Given the description of an element on the screen output the (x, y) to click on. 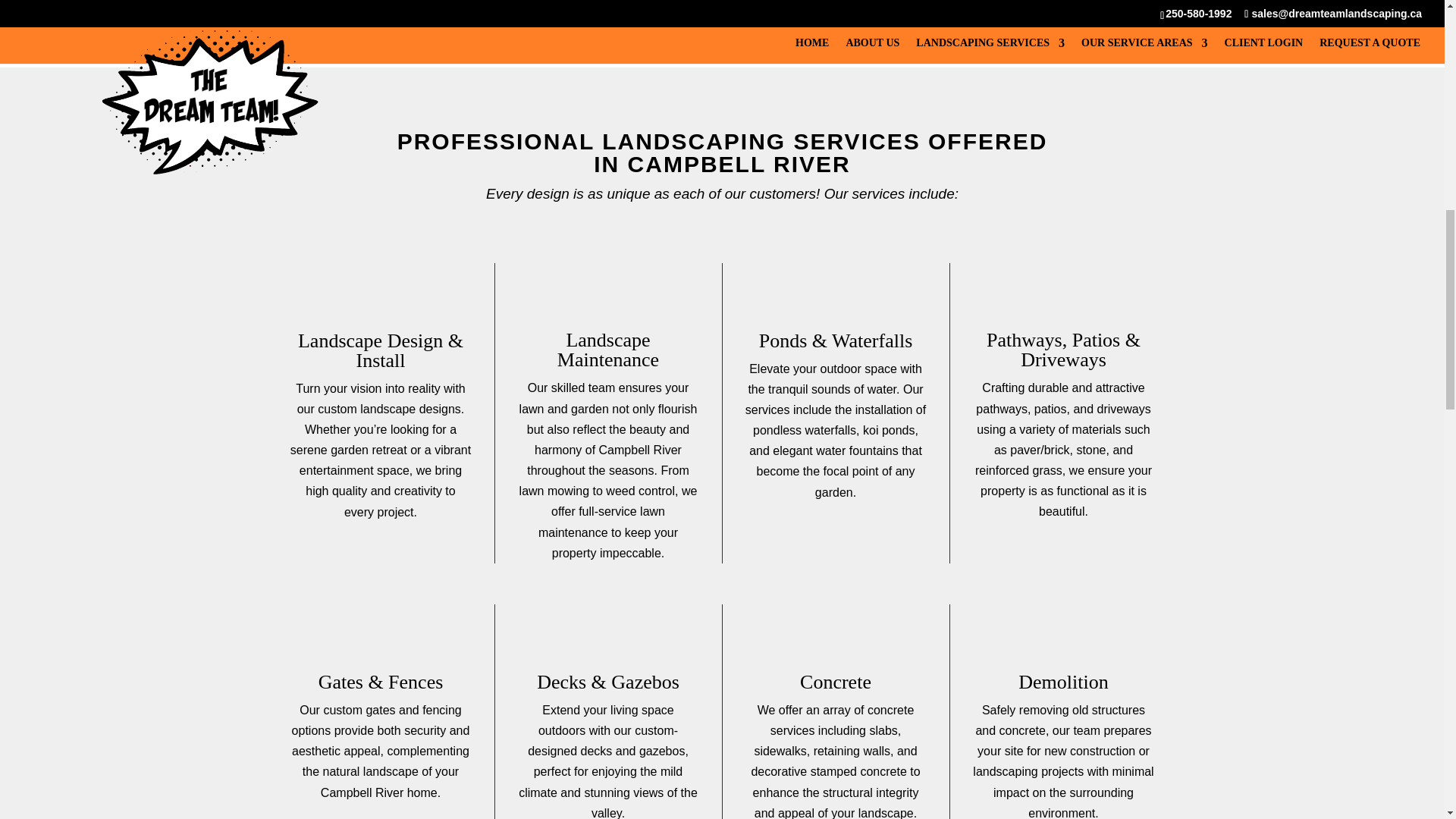
REQUEST A QUOTE (721, 13)
